Given the description of an element on the screen output the (x, y) to click on. 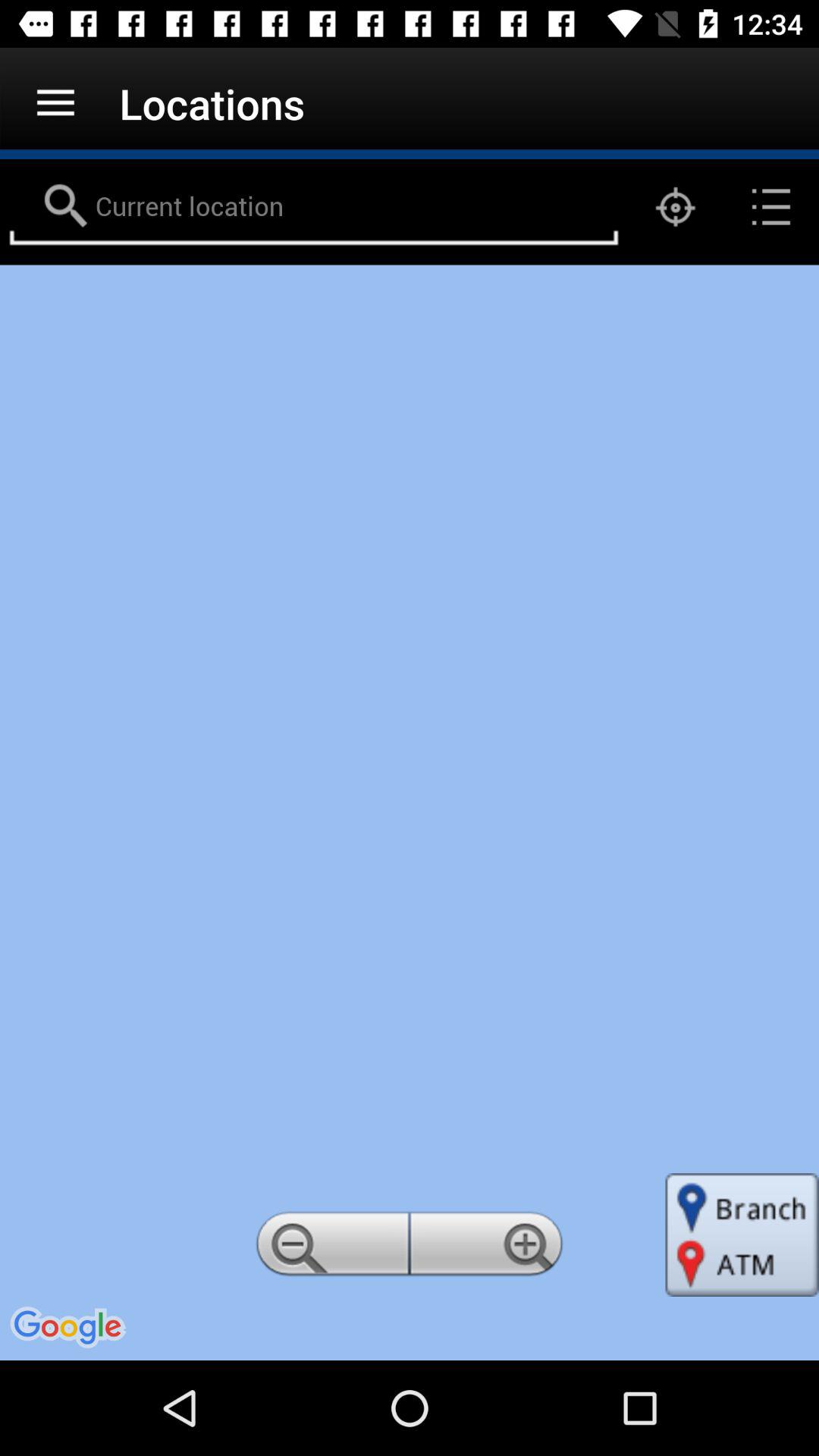
tap the icon at the center (409, 812)
